Given the description of an element on the screen output the (x, y) to click on. 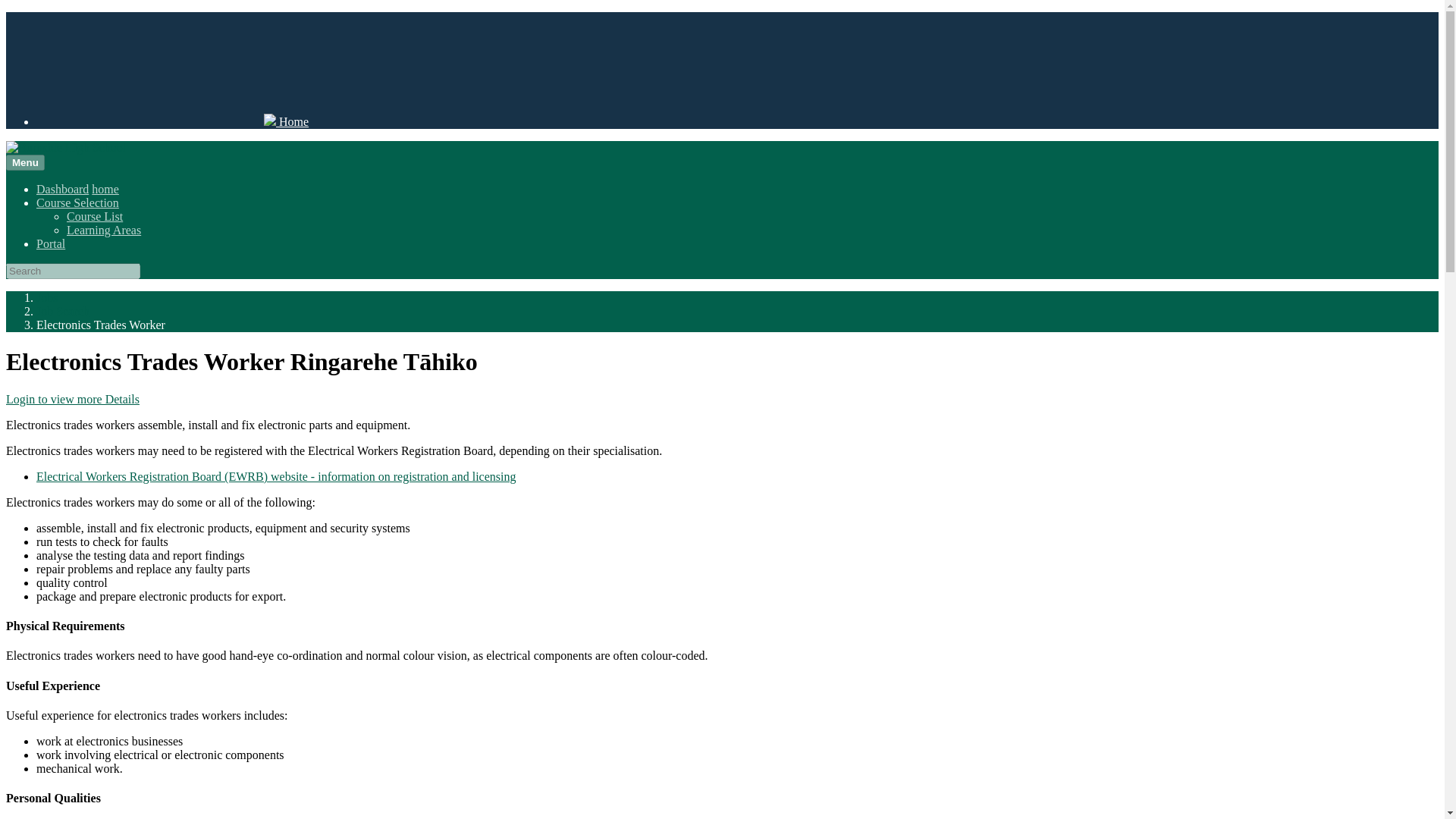
Jobs (47, 297)
Home (172, 121)
Job Search (62, 310)
Course Selection (77, 202)
Login to view more Details (72, 399)
Portal (50, 243)
Burnside High School (65, 147)
Learning Areas (103, 229)
Dashboard (62, 188)
Menu (25, 162)
Course List (94, 215)
Home (105, 188)
SchoolBridge Dashboard (172, 121)
home (105, 188)
SchoolBridge Dashboard (62, 188)
